Given the description of an element on the screen output the (x, y) to click on. 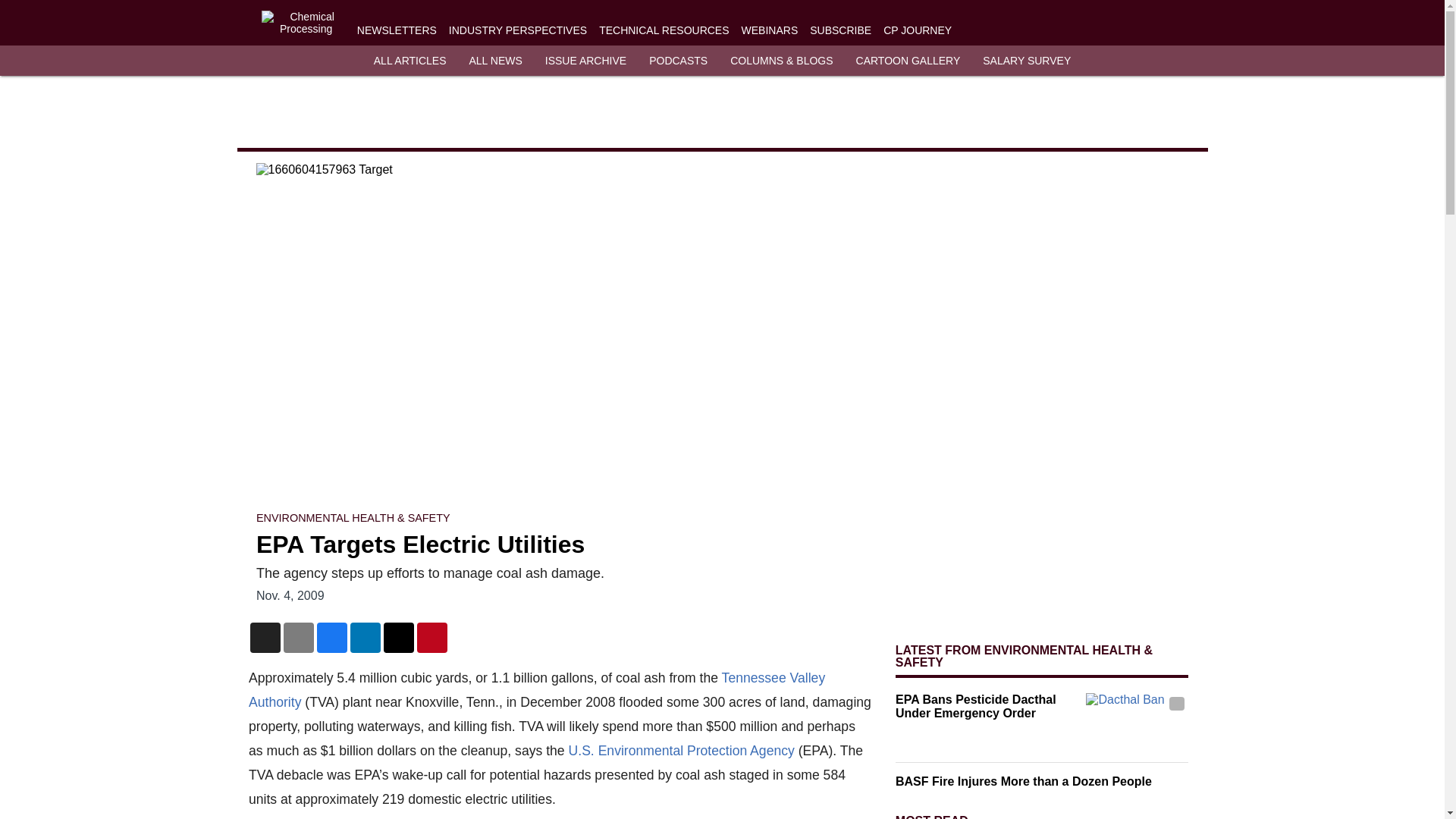
CP JOURNEY (917, 30)
ALL NEWS (494, 60)
CARTOON GALLERY (908, 60)
PODCASTS (678, 60)
Tennessee Valley Authority (536, 690)
WEBINARS (769, 30)
INDUSTRY PERSPECTIVES (517, 30)
U.S. Environmental Protection Agency (680, 750)
Dacthal Ban (1137, 721)
